Given the description of an element on the screen output the (x, y) to click on. 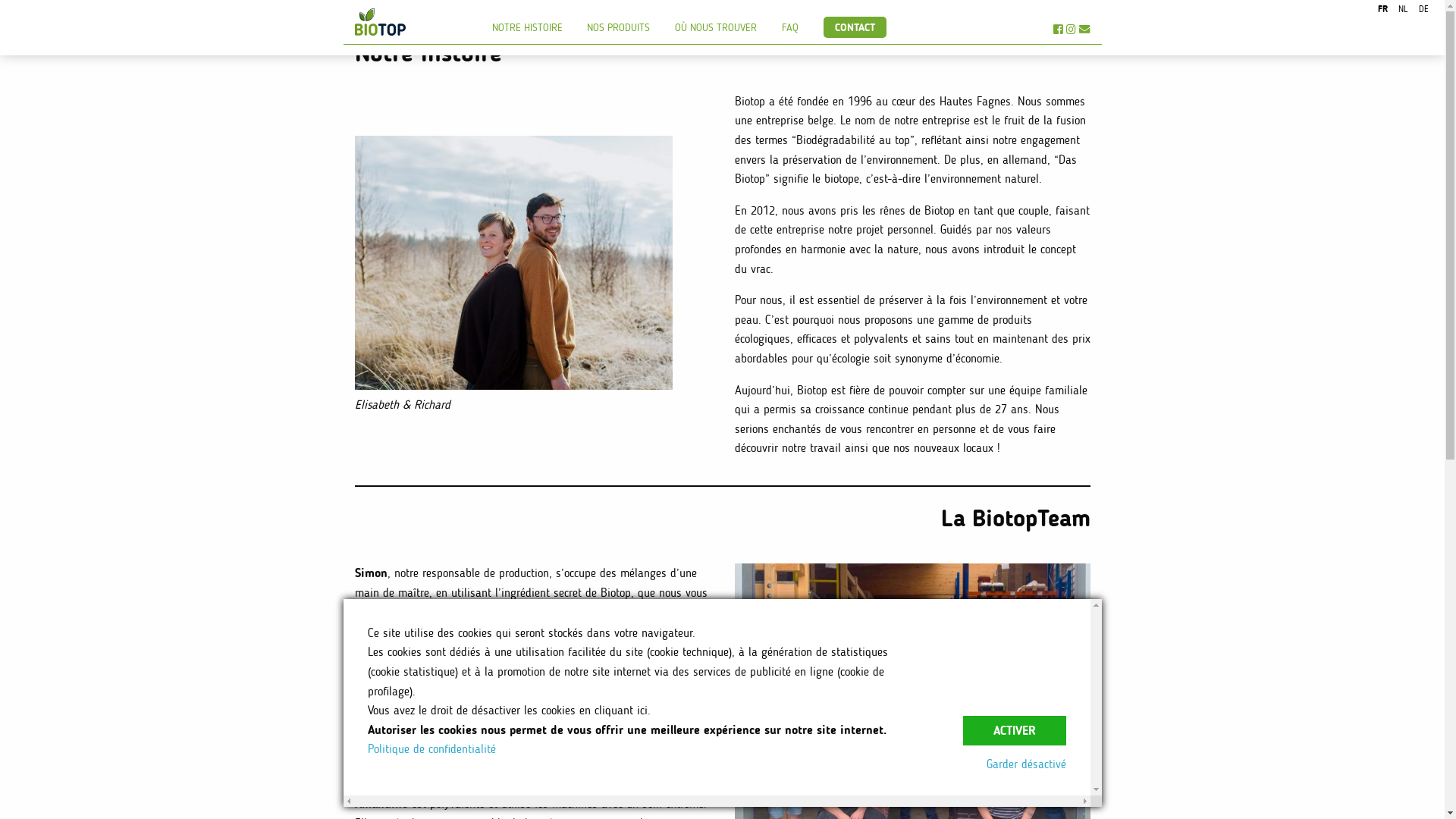
ACTIVER Element type: text (1014, 730)
FR Element type: text (1382, 10)
FAQ Element type: text (789, 24)
DE Element type: text (1422, 10)
NOS PRODUITS Element type: text (618, 24)
NOTRE HISTOIRE Element type: text (526, 24)
NL Element type: text (1403, 10)
CONTACT Element type: text (854, 26)
